Given the description of an element on the screen output the (x, y) to click on. 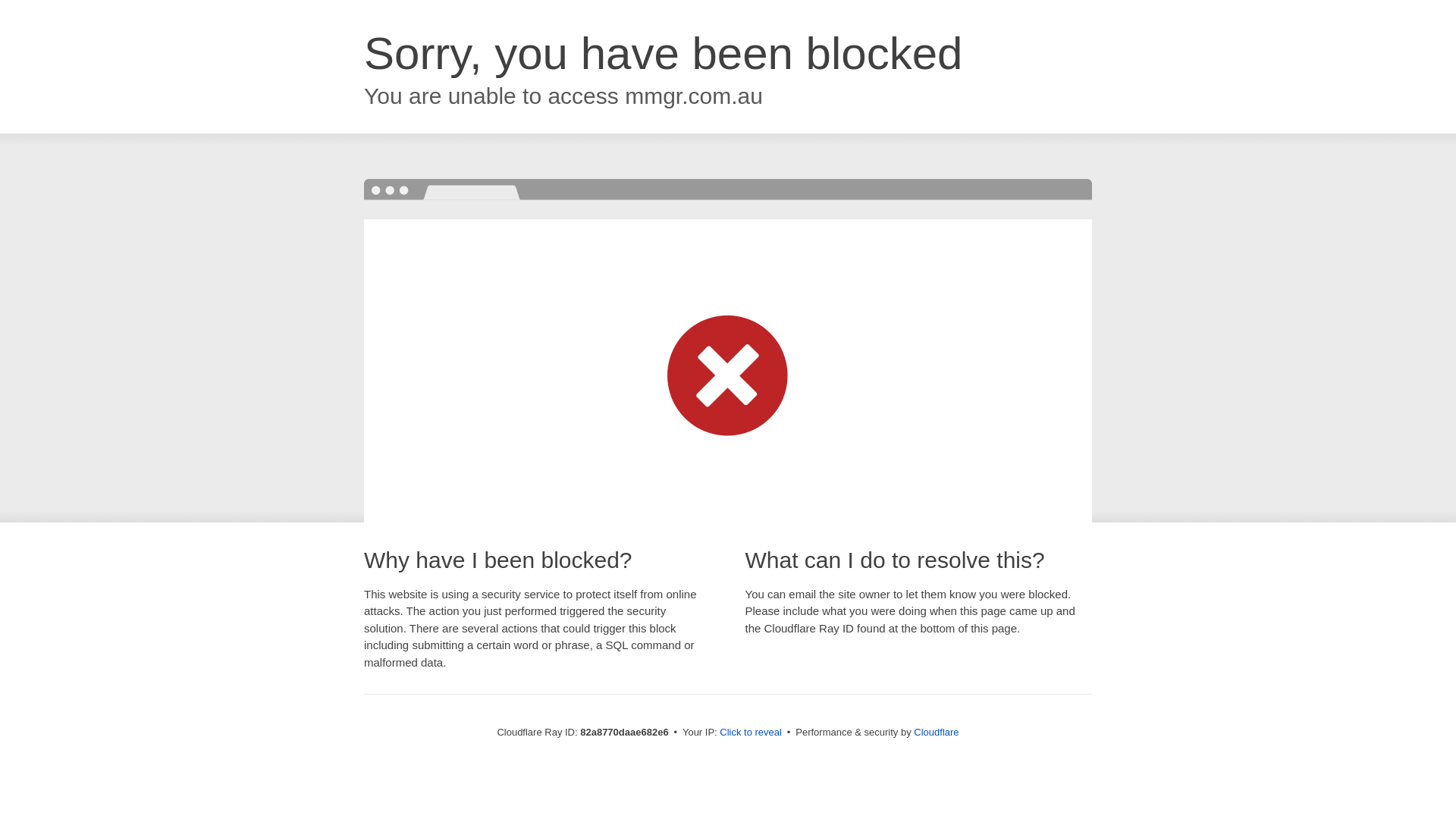
Click to reveal Element type: text (750, 732)
Cloudflare Element type: text (935, 731)
